Given the description of an element on the screen output the (x, y) to click on. 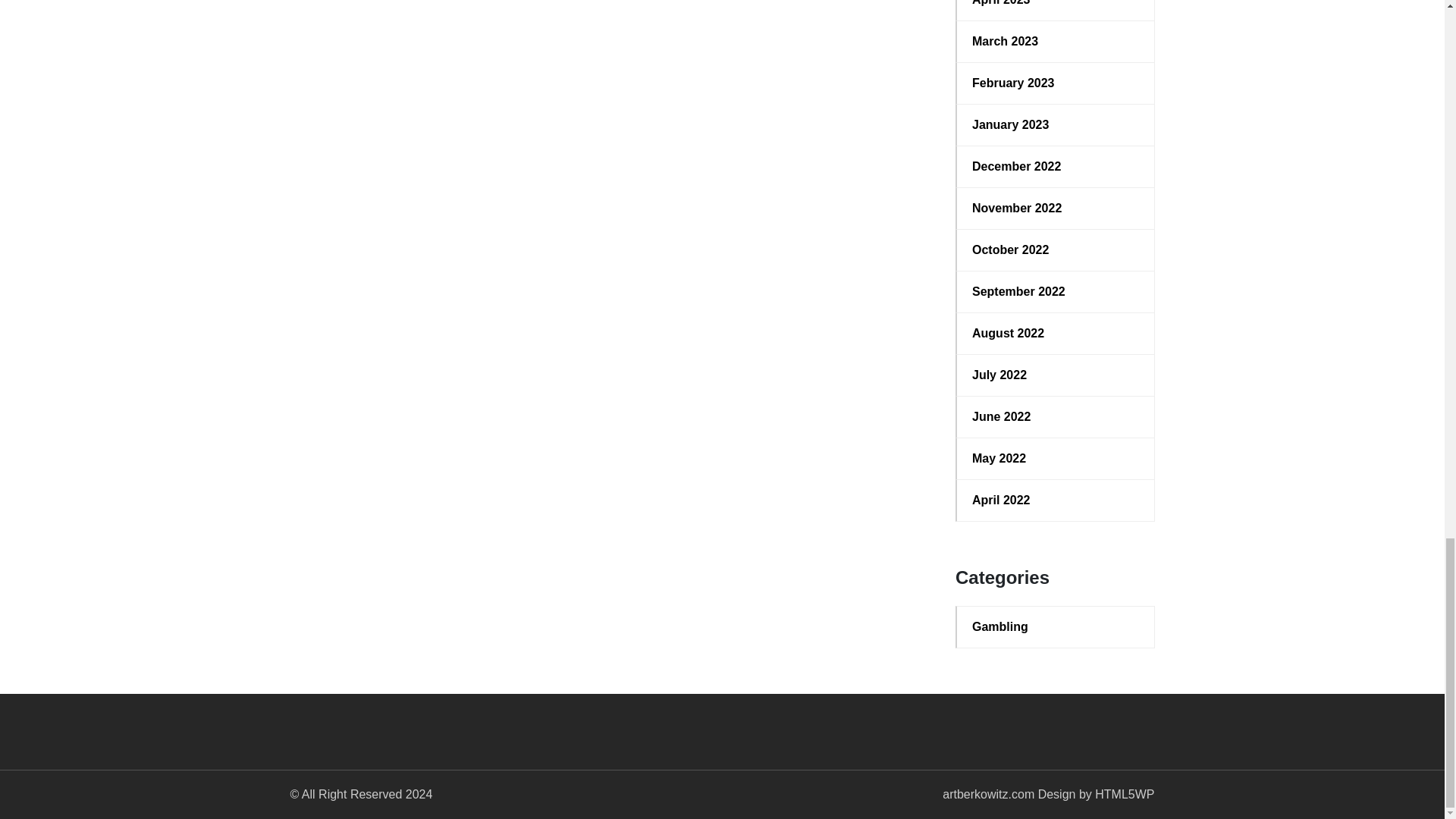
October 2022 (1055, 249)
March 2023 (1055, 41)
August 2022 (1055, 333)
September 2022 (1055, 291)
January 2023 (1055, 125)
November 2022 (1055, 208)
April 2023 (1055, 4)
July 2022 (1055, 375)
December 2022 (1055, 167)
February 2023 (1055, 83)
